Given the description of an element on the screen output the (x, y) to click on. 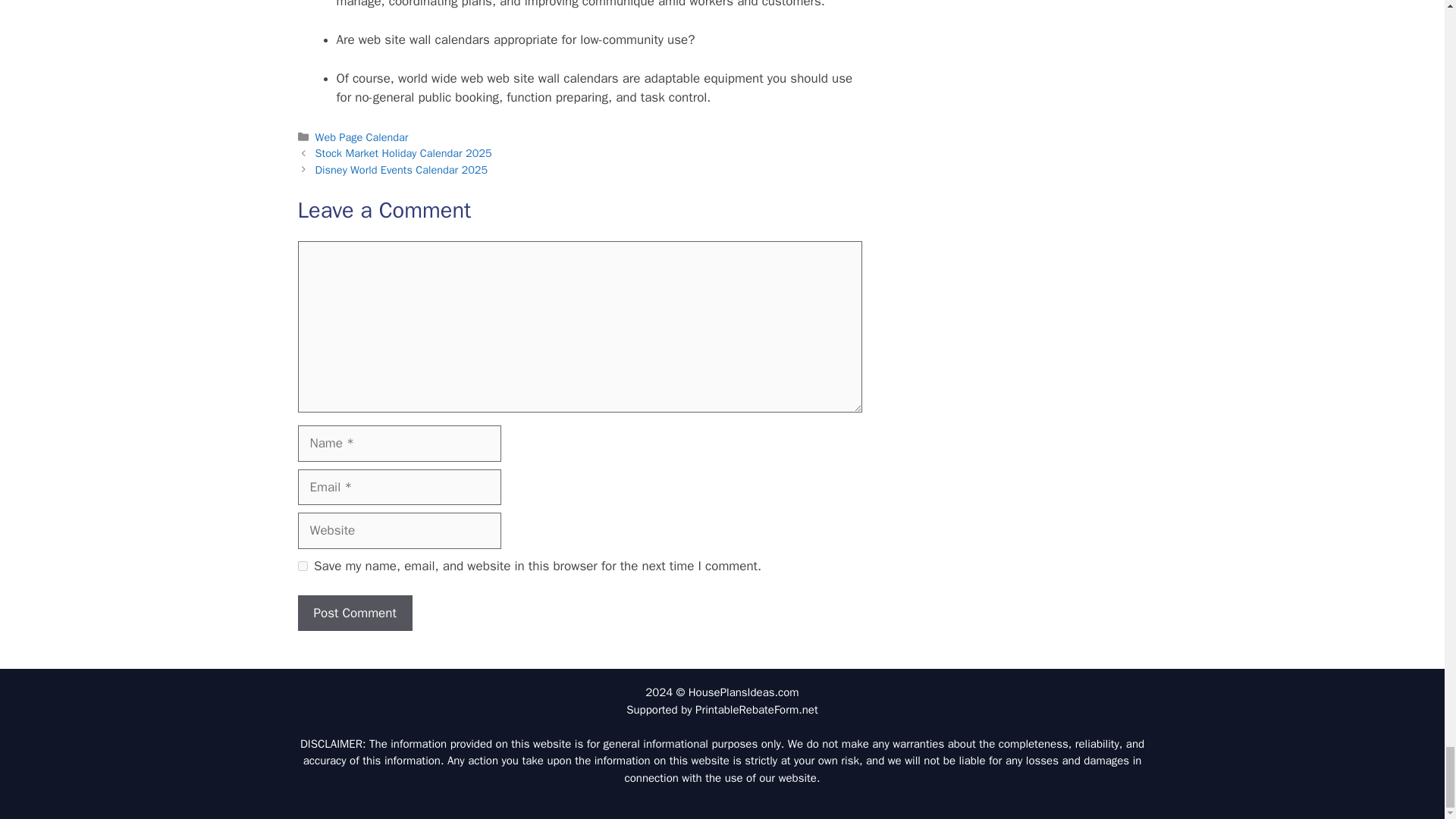
Web Page Calendar (362, 137)
PrintableRebateForm.net (756, 709)
Disney World Events Calendar 2025 (401, 169)
Post Comment (354, 613)
HousePlansIdeas.com (743, 692)
Stock Market Holiday Calendar 2025 (403, 152)
Post Comment (354, 613)
yes (302, 565)
